Given the description of an element on the screen output the (x, y) to click on. 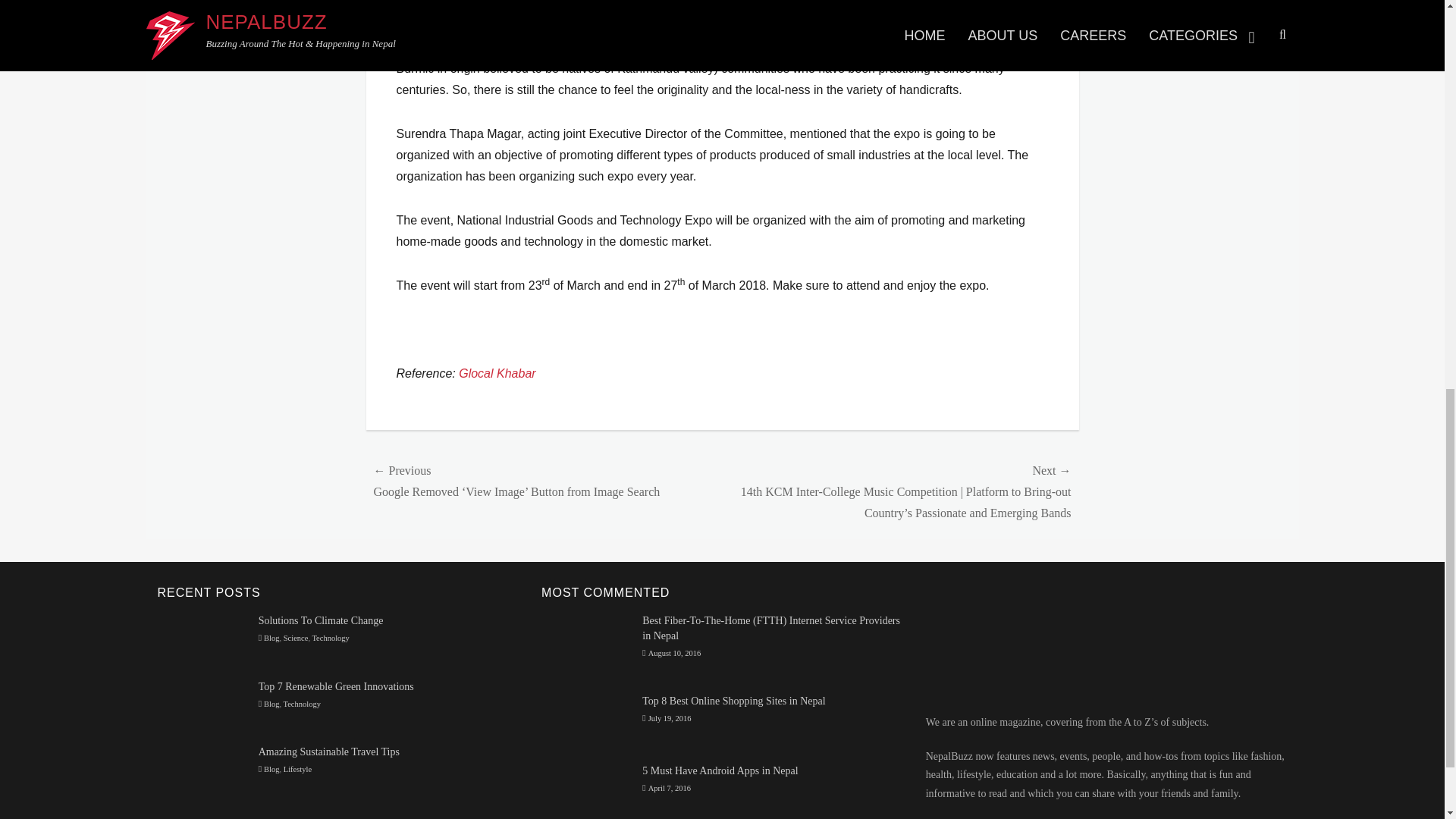
Top 8 Best Online Shopping Sites in Nepal (586, 722)
Solutions To Climate Change (202, 637)
Amazing Sustainable Travel Tips (328, 751)
Top 8 Best Online Shopping Sites in Nepal (733, 700)
Top 7 Renewable Green Innovations (336, 686)
Glocal Khabar (496, 373)
5 Must Have Android Apps in Nepal (586, 787)
Solutions To Climate Change (321, 620)
Amazing Sustainable Travel Tips (202, 768)
5 Must Have Android Apps in Nepal (719, 770)
Solutions To Climate Change (321, 620)
Top 7 Renewable Green Innovations (202, 703)
